Given the description of an element on the screen output the (x, y) to click on. 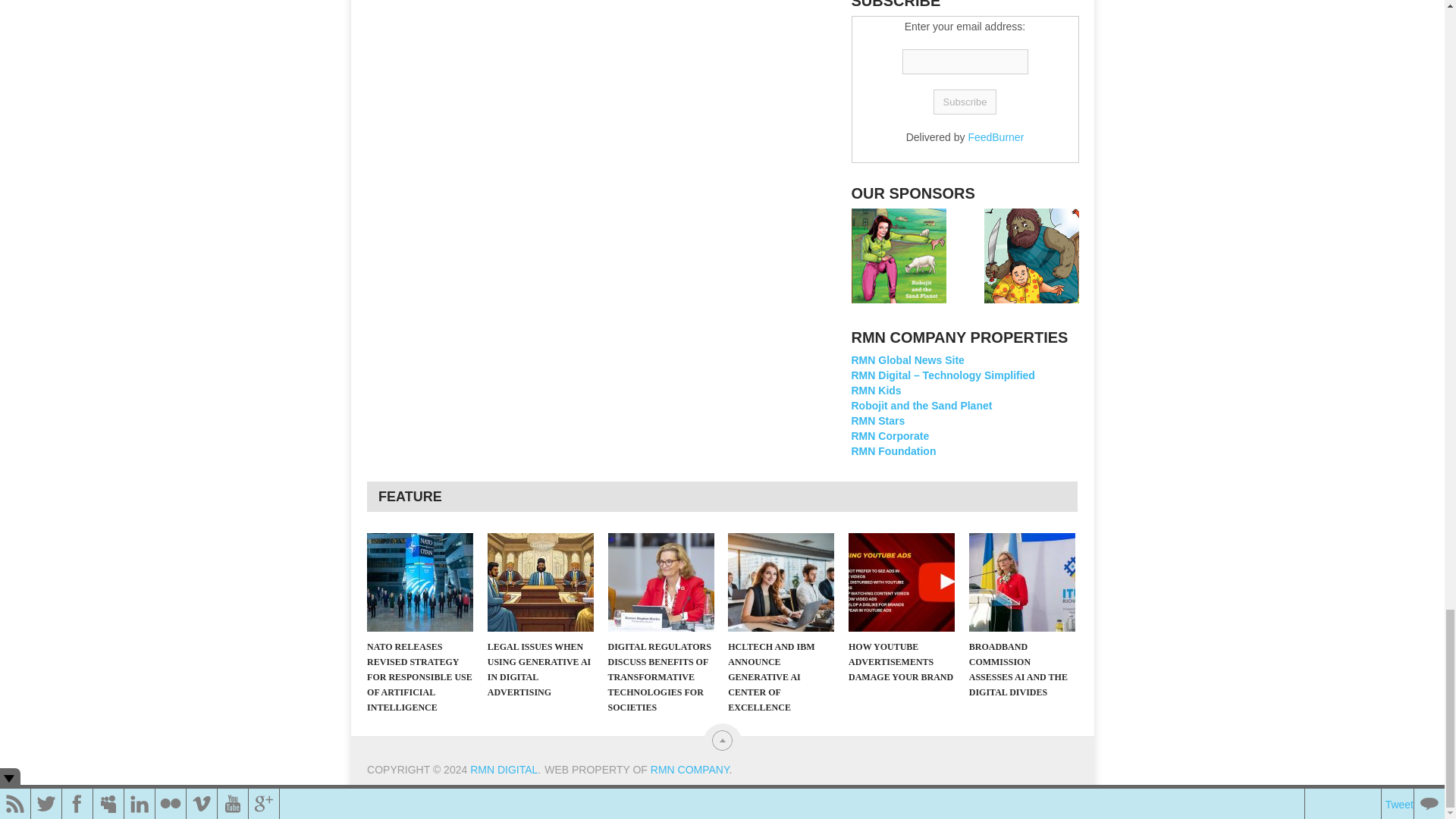
Subscribe (965, 101)
